Given the description of an element on the screen output the (x, y) to click on. 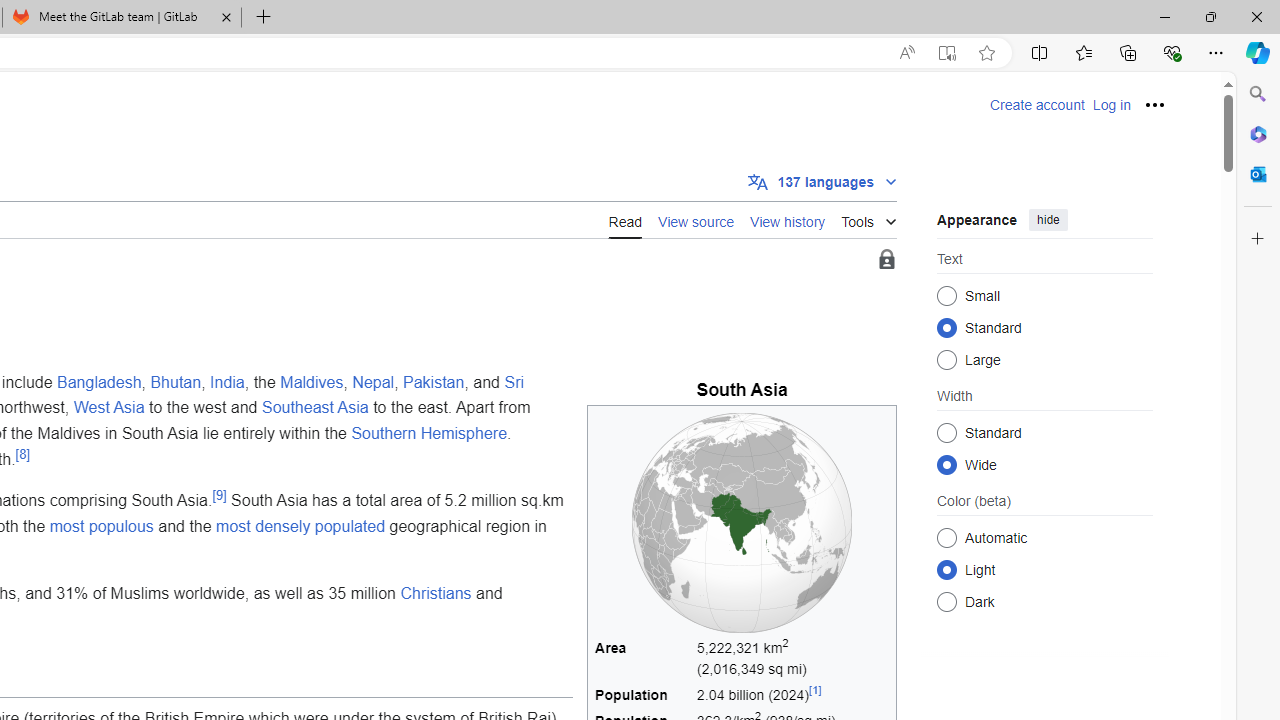
Southern Hemisphere (429, 433)
Christians (435, 592)
most populous (100, 525)
Light (946, 569)
most densely populated (301, 525)
Standard (946, 431)
[8] (22, 453)
Tools (868, 218)
Population (643, 695)
Pakistan (433, 381)
Class: mw-list-item mw-list-item-js (1044, 569)
